Given the description of an element on the screen output the (x, y) to click on. 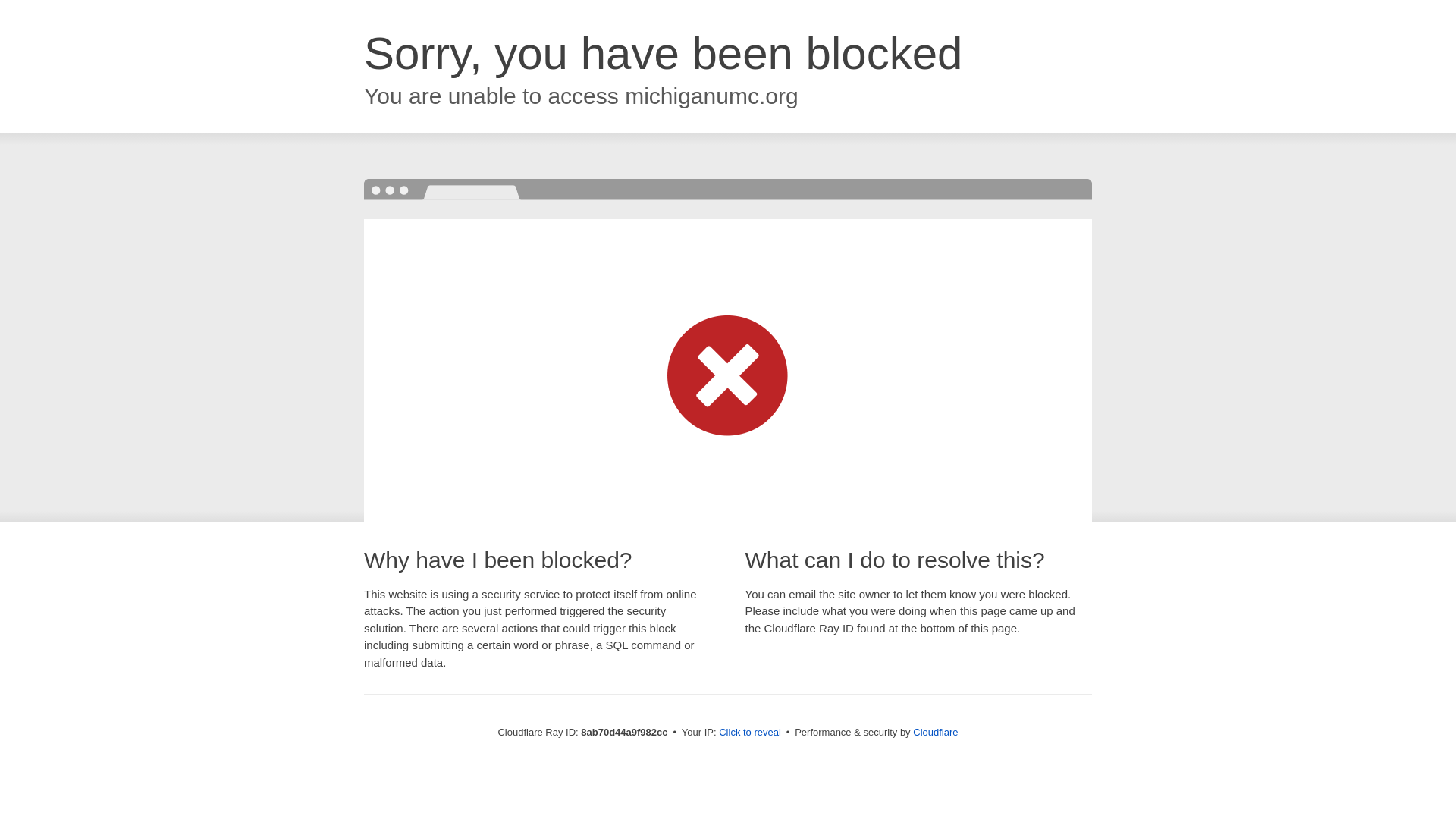
Cloudflare (935, 731)
Click to reveal (749, 732)
